Given the description of an element on the screen output the (x, y) to click on. 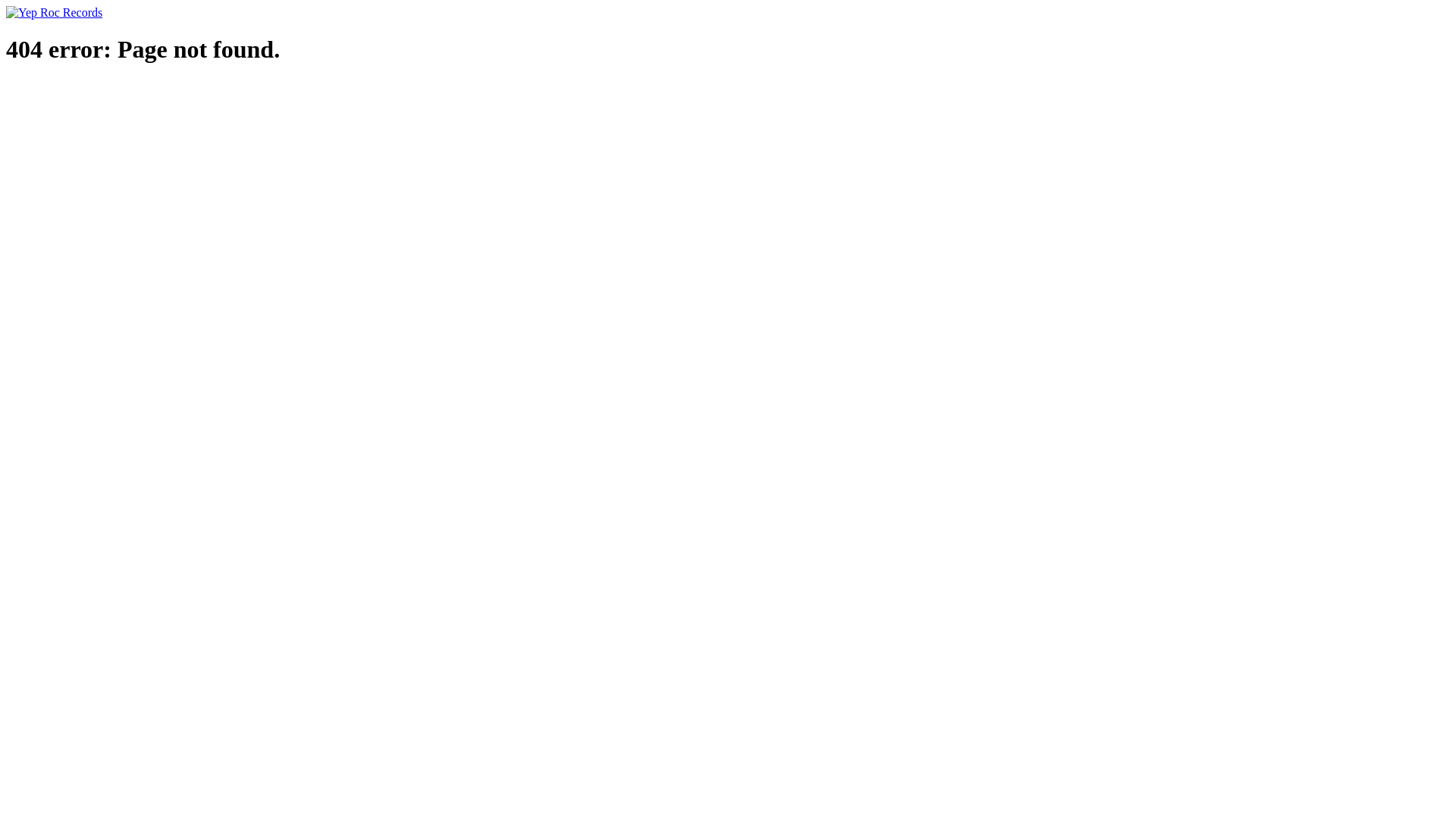
Yep Roc Records Element type: hover (54, 12)
